Given the description of an element on the screen output the (x, y) to click on. 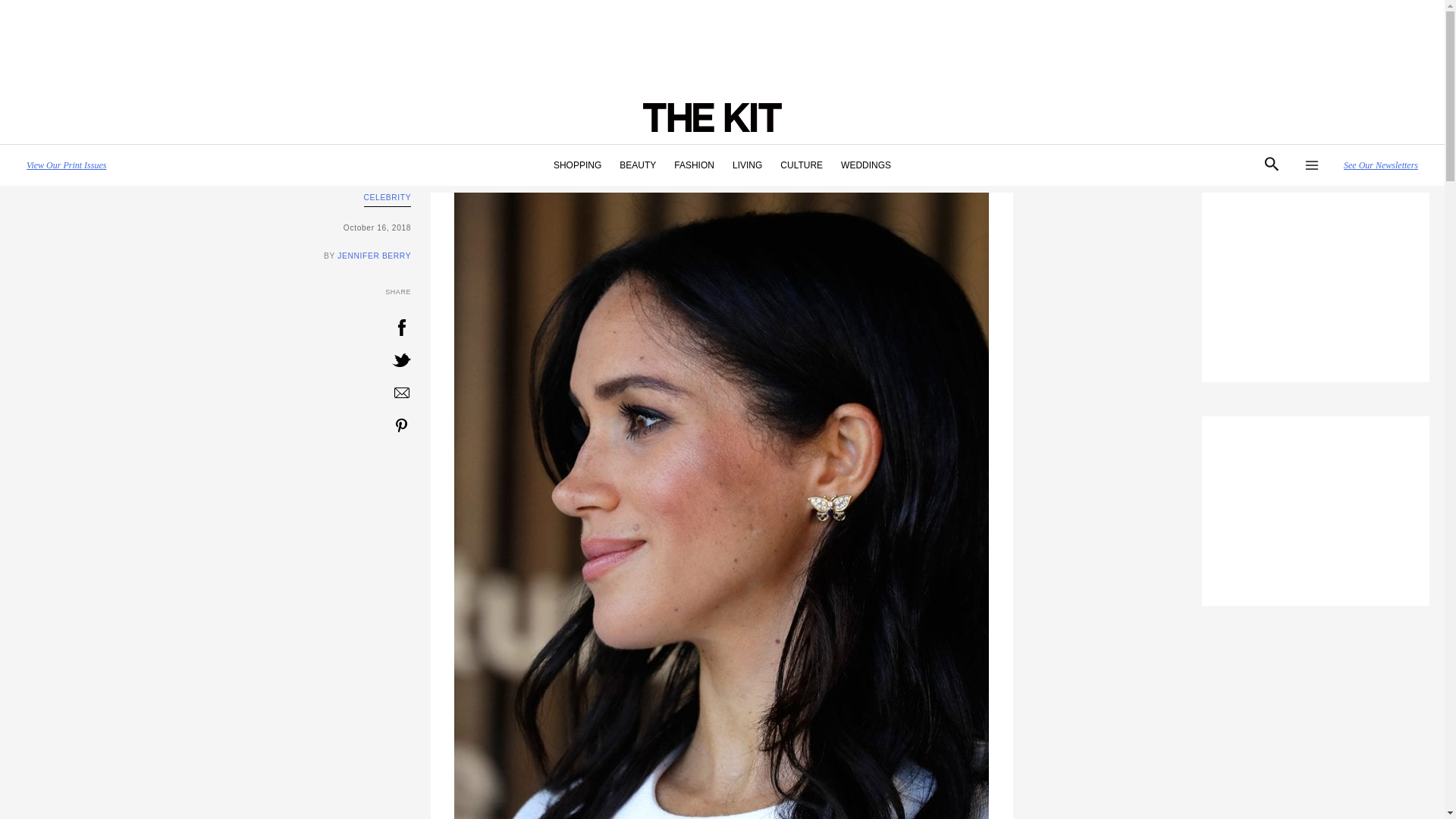
View Our Print Issues (66, 164)
FASHION (694, 164)
BEAUTY (637, 164)
SHOPPING (577, 164)
October 16, 2018 (212, 227)
